Given the description of an element on the screen output the (x, y) to click on. 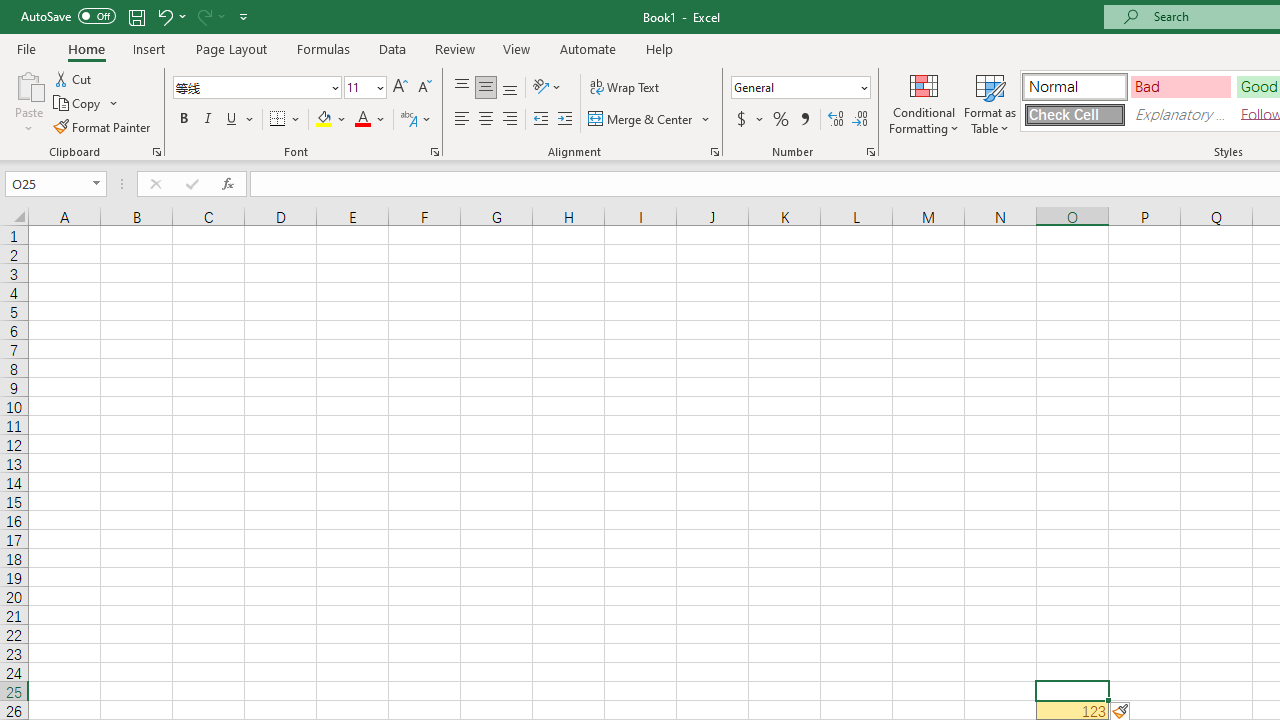
Cut (73, 78)
Bold (183, 119)
